Given the description of an element on the screen output the (x, y) to click on. 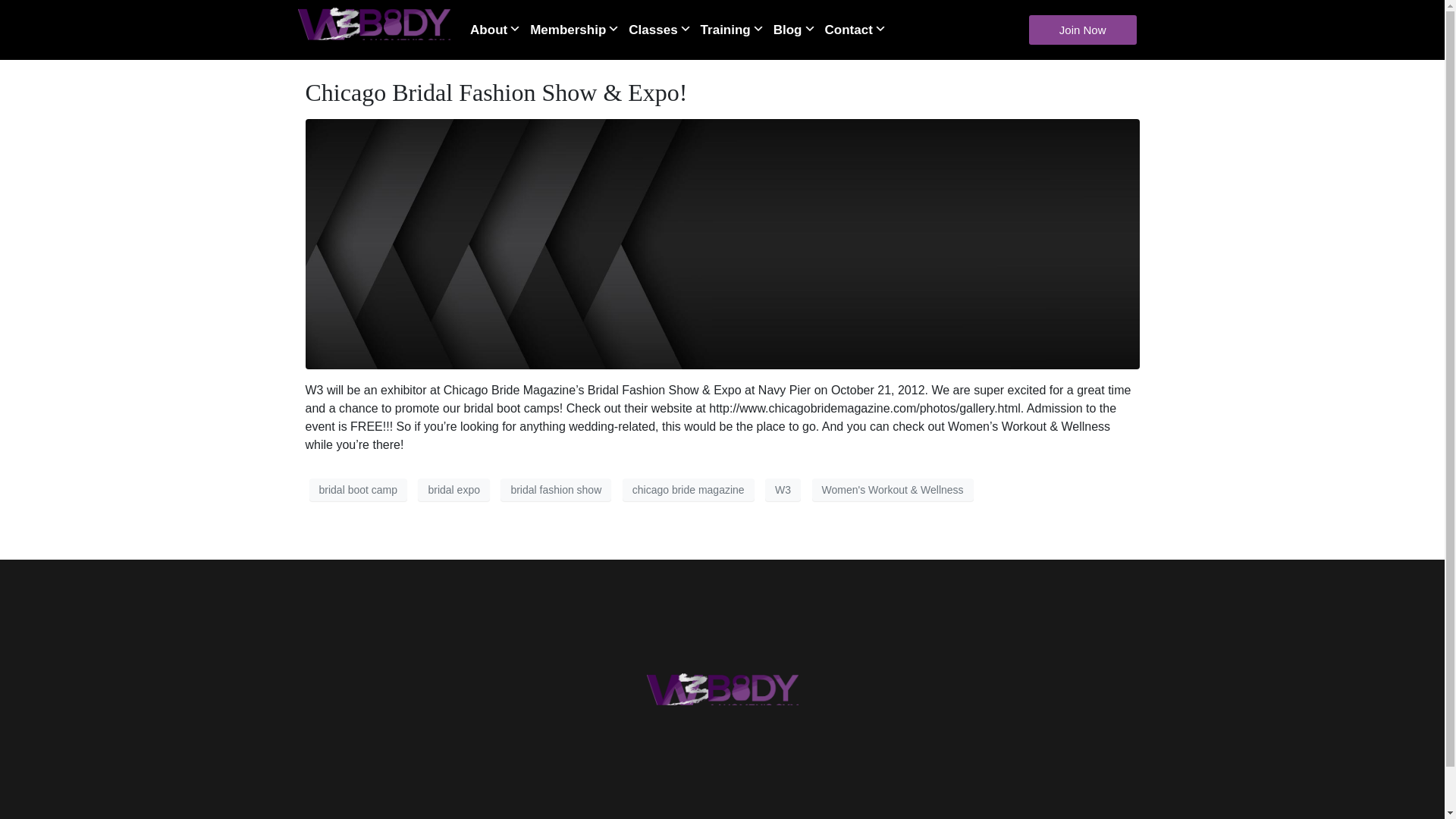
About (498, 29)
Membership (578, 29)
Training (736, 29)
Blog (798, 29)
Classes (662, 29)
Contact (859, 29)
